Given the description of an element on the screen output the (x, y) to click on. 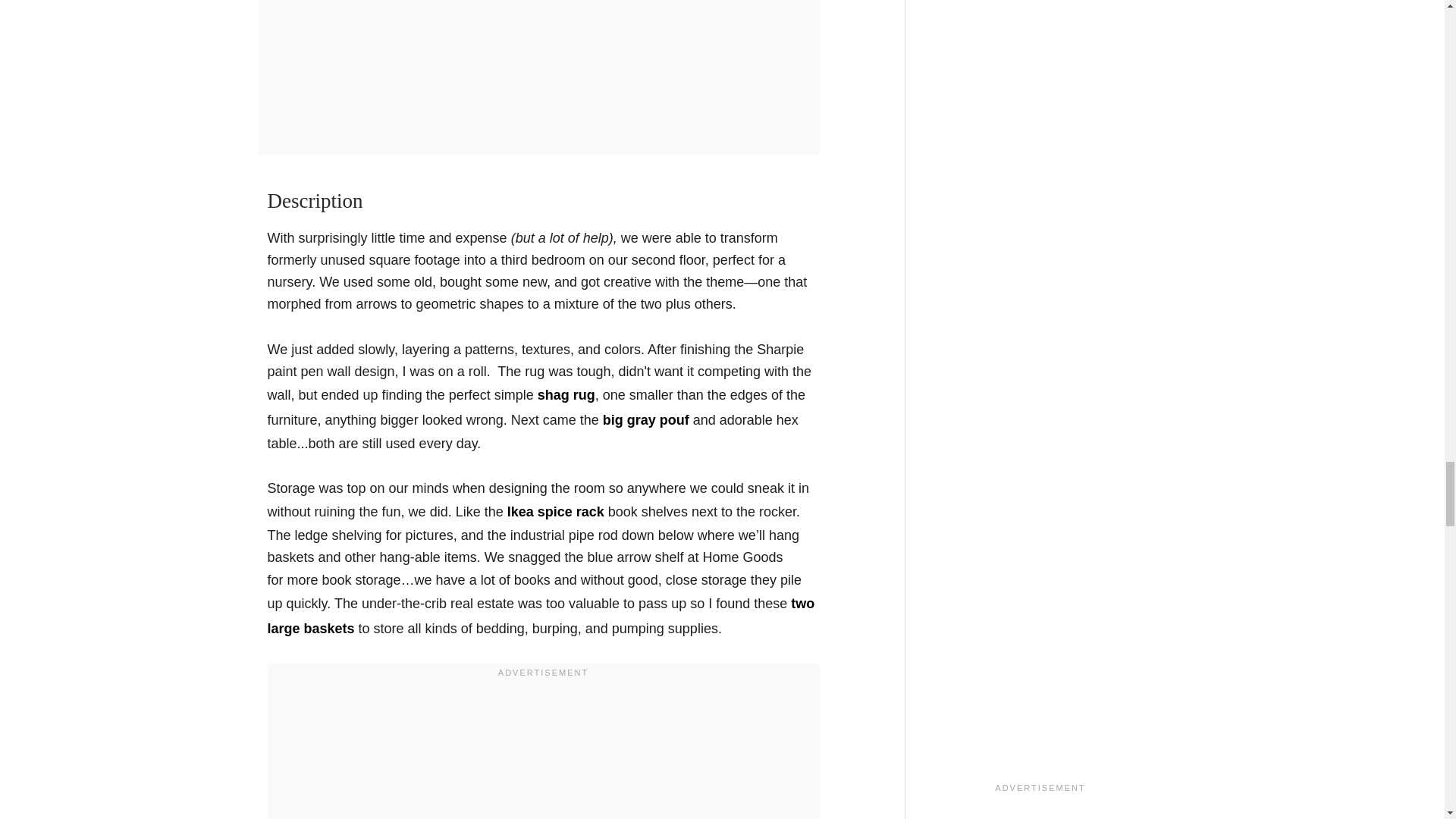
Ikea Bekvam Spice Rack (555, 511)
CB2 Gray Pouf (645, 419)
